Given the description of an element on the screen output the (x, y) to click on. 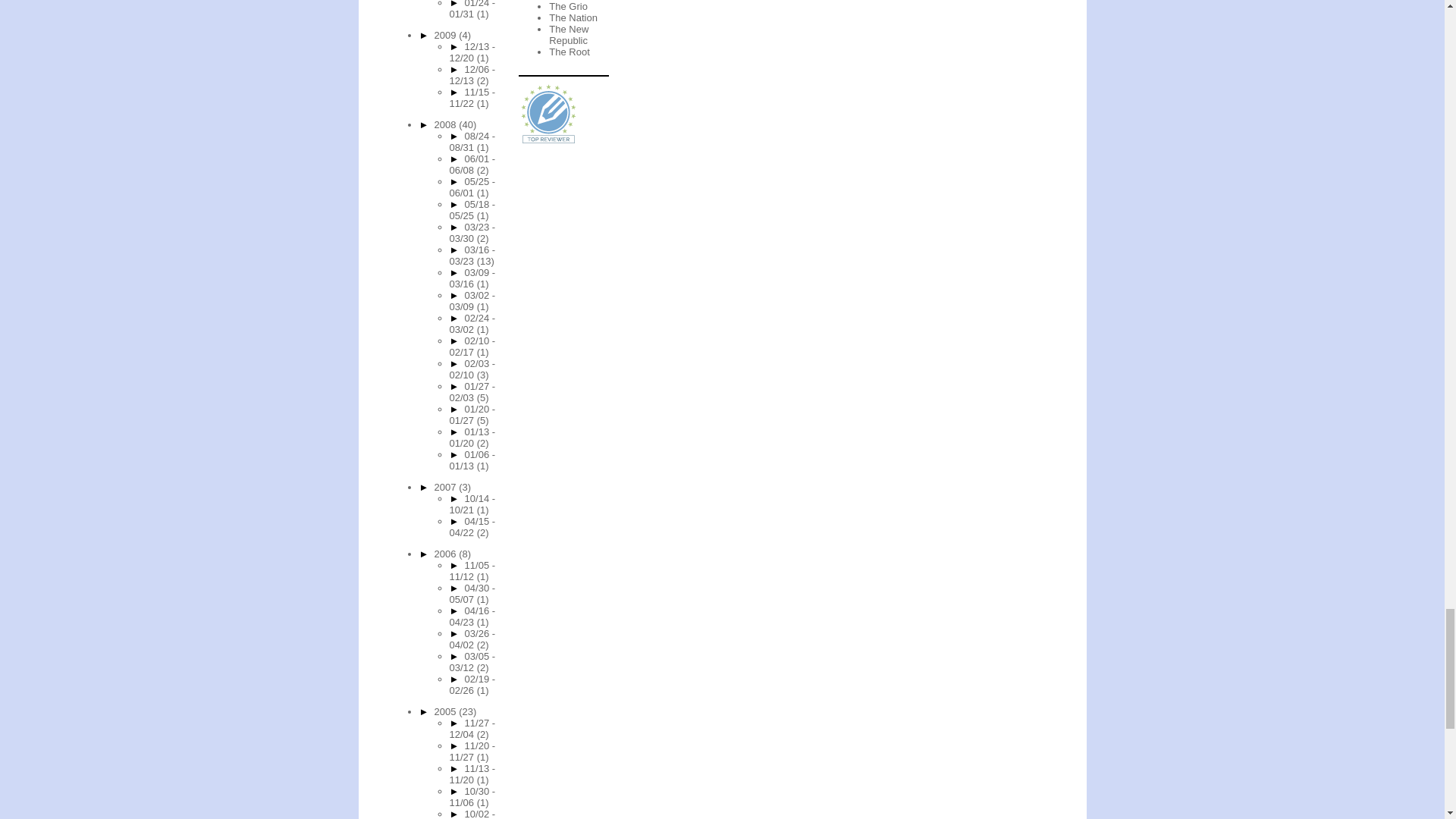
Reviews Published (548, 114)
